Given the description of an element on the screen output the (x, y) to click on. 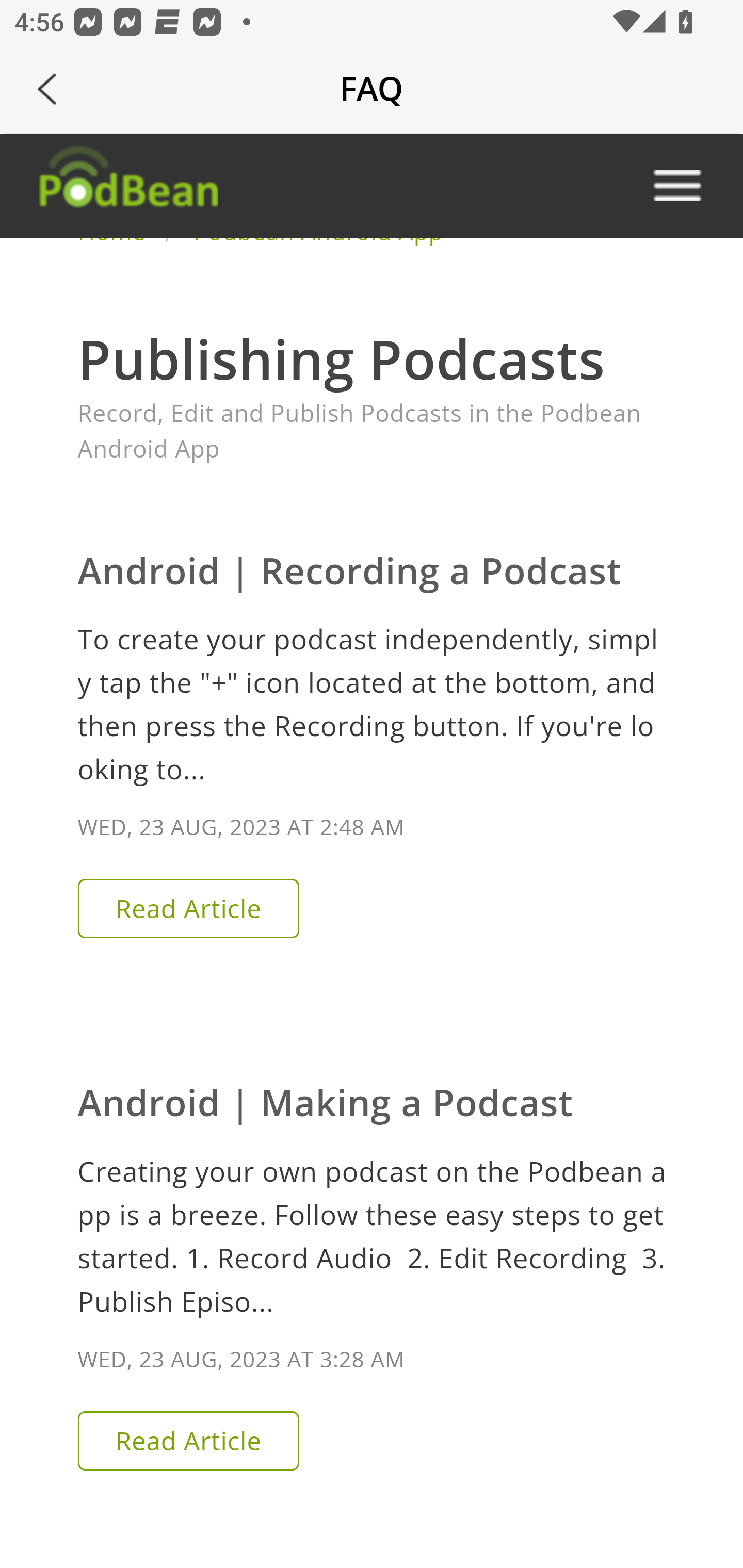
Back (46, 88)
Logo (127, 184)
Android | Recording a Podcast (348, 570)
Read Article (187, 908)
Android | Making a Podcast (324, 1101)
Read Article (187, 1439)
